Given the description of an element on the screen output the (x, y) to click on. 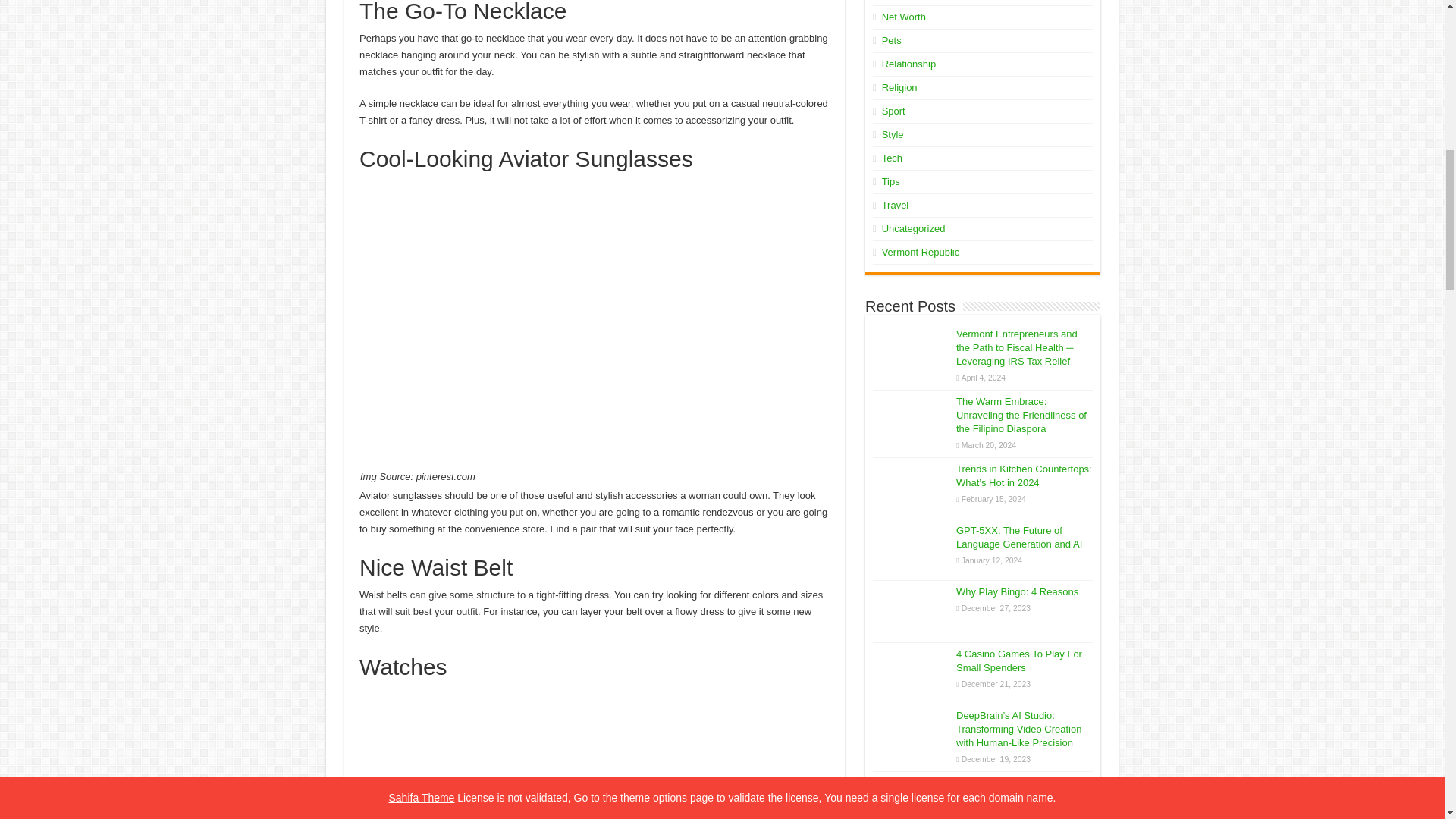
Scroll To Top (1421, 60)
